Given the description of an element on the screen output the (x, y) to click on. 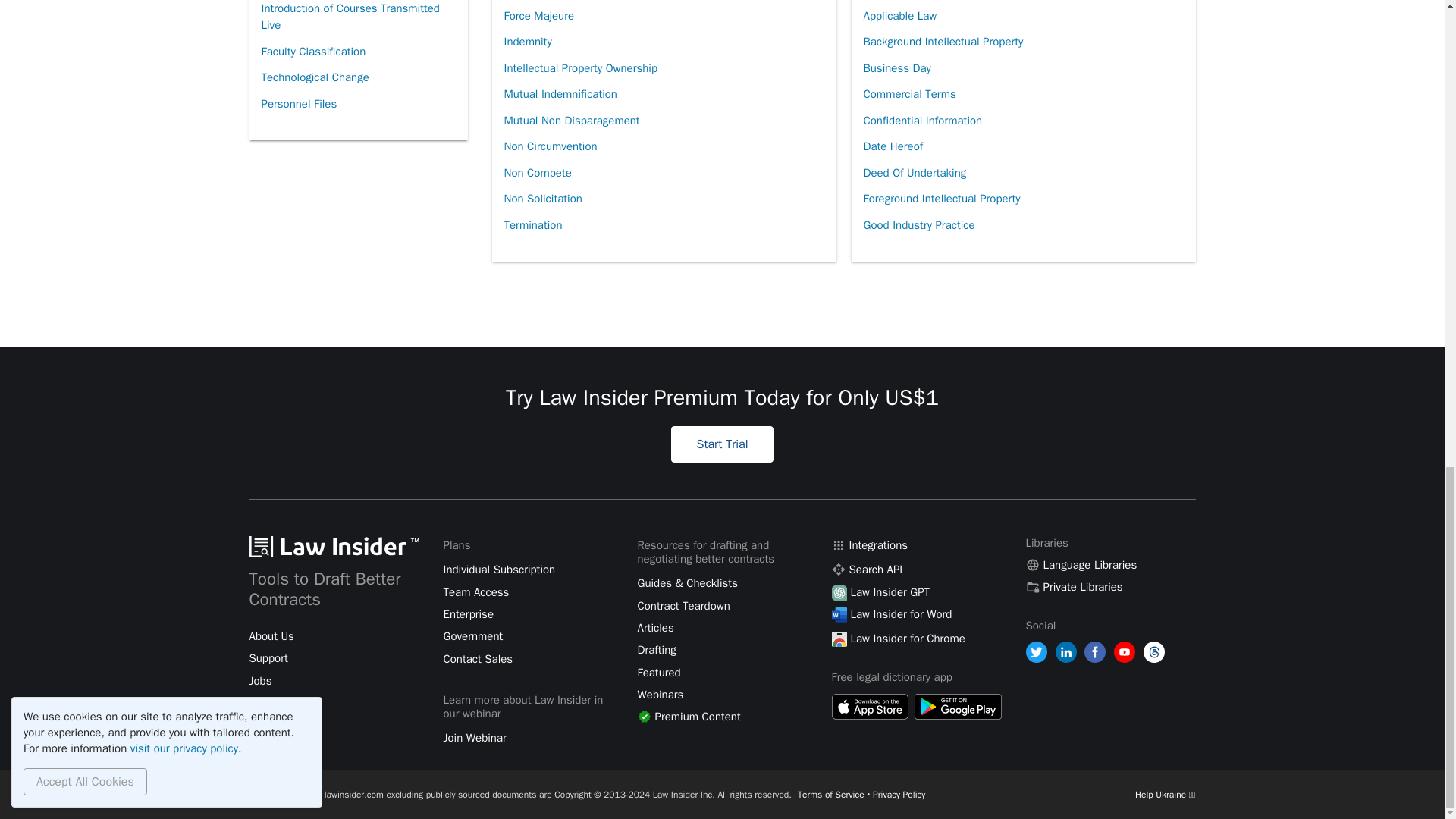
Personnel Files (298, 103)
Faculty Classification (312, 51)
Technological Change (314, 77)
Introduction of Courses Transmitted Live (357, 19)
